Given the description of an element on the screen output the (x, y) to click on. 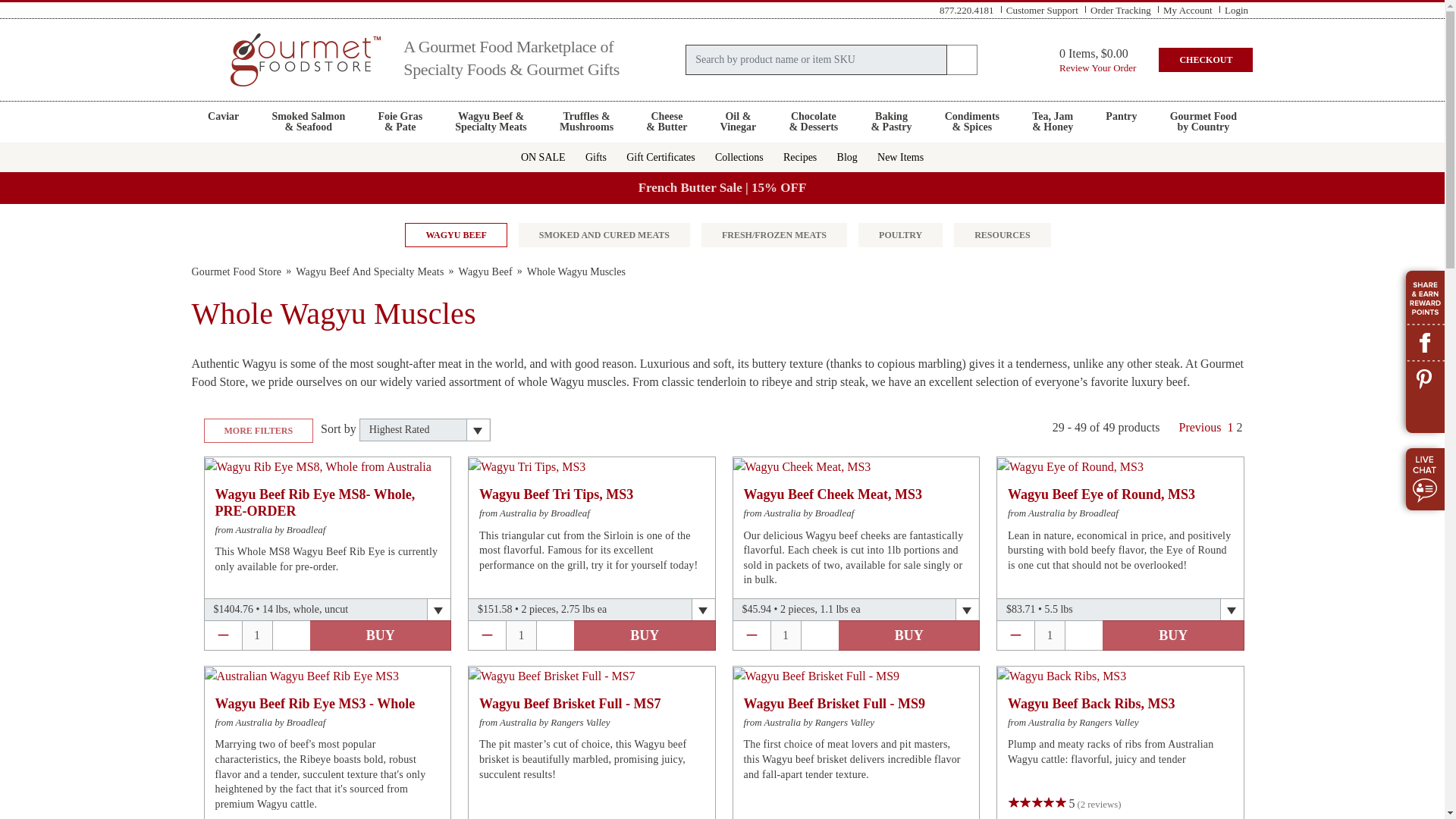
Wagyu Beef And Specialty Meats (1203, 121)
Wagyu Tri Tips, MS3 (369, 271)
Gifts (526, 466)
Wagyu Beef (595, 156)
My Account (485, 271)
Buy (1187, 9)
Buy (644, 634)
Gourmet Food Store (379, 634)
1 (235, 271)
